Given the description of an element on the screen output the (x, y) to click on. 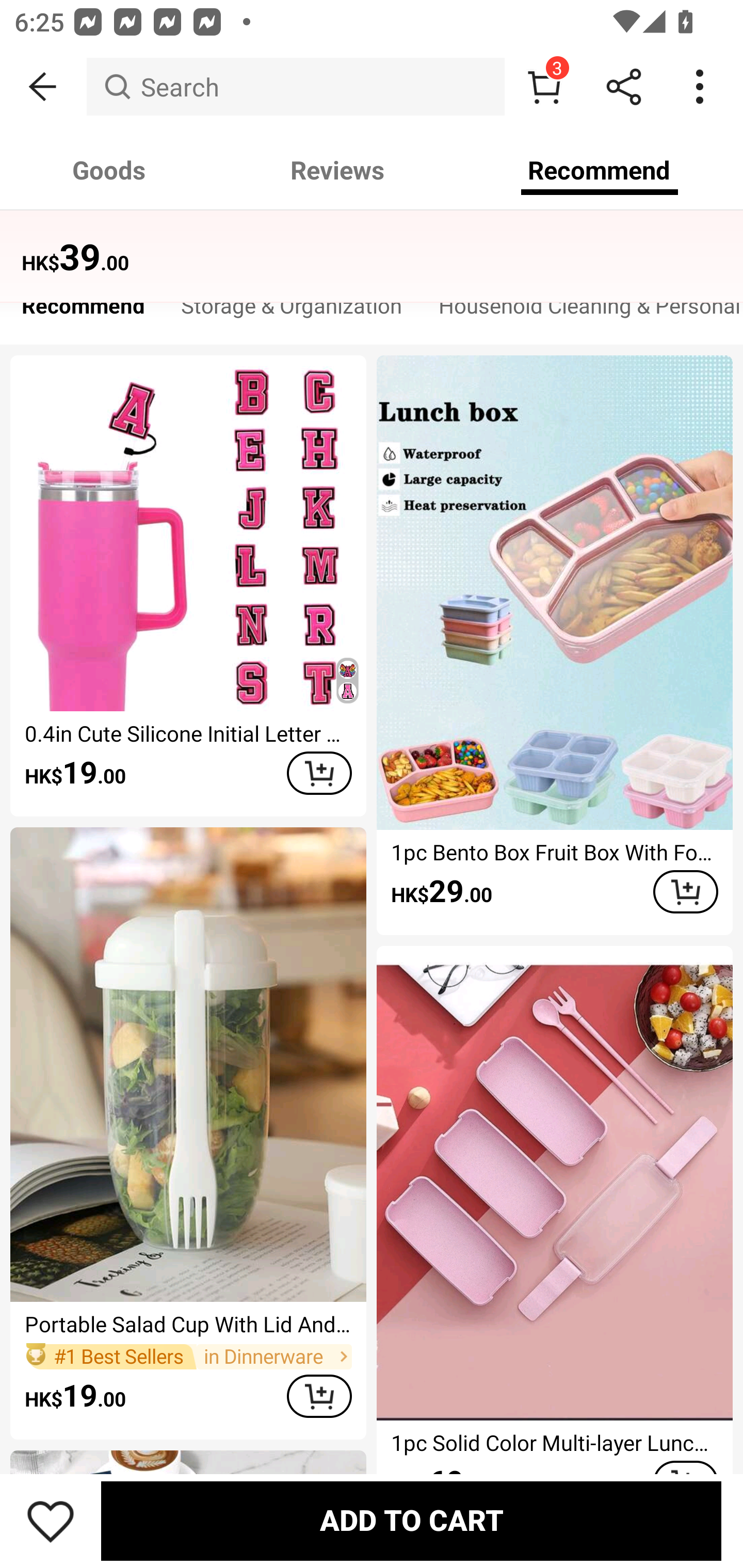
BACK (43, 86)
3 (543, 87)
Search (295, 87)
Goods (109, 170)
Reviews (337, 170)
Recommend (599, 170)
You May Also Like (371, 244)
Recommend (82, 310)
Storage & Organization (291, 310)
Household Cleaning & Personal Care (581, 310)
ADD TO CART (319, 772)
ADD TO CART (685, 892)
#1 Best Sellers in Dinnerware (188, 1356)
ADD TO CART (319, 1396)
ADD TO CART (411, 1520)
Save (50, 1520)
